Given the description of an element on the screen output the (x, y) to click on. 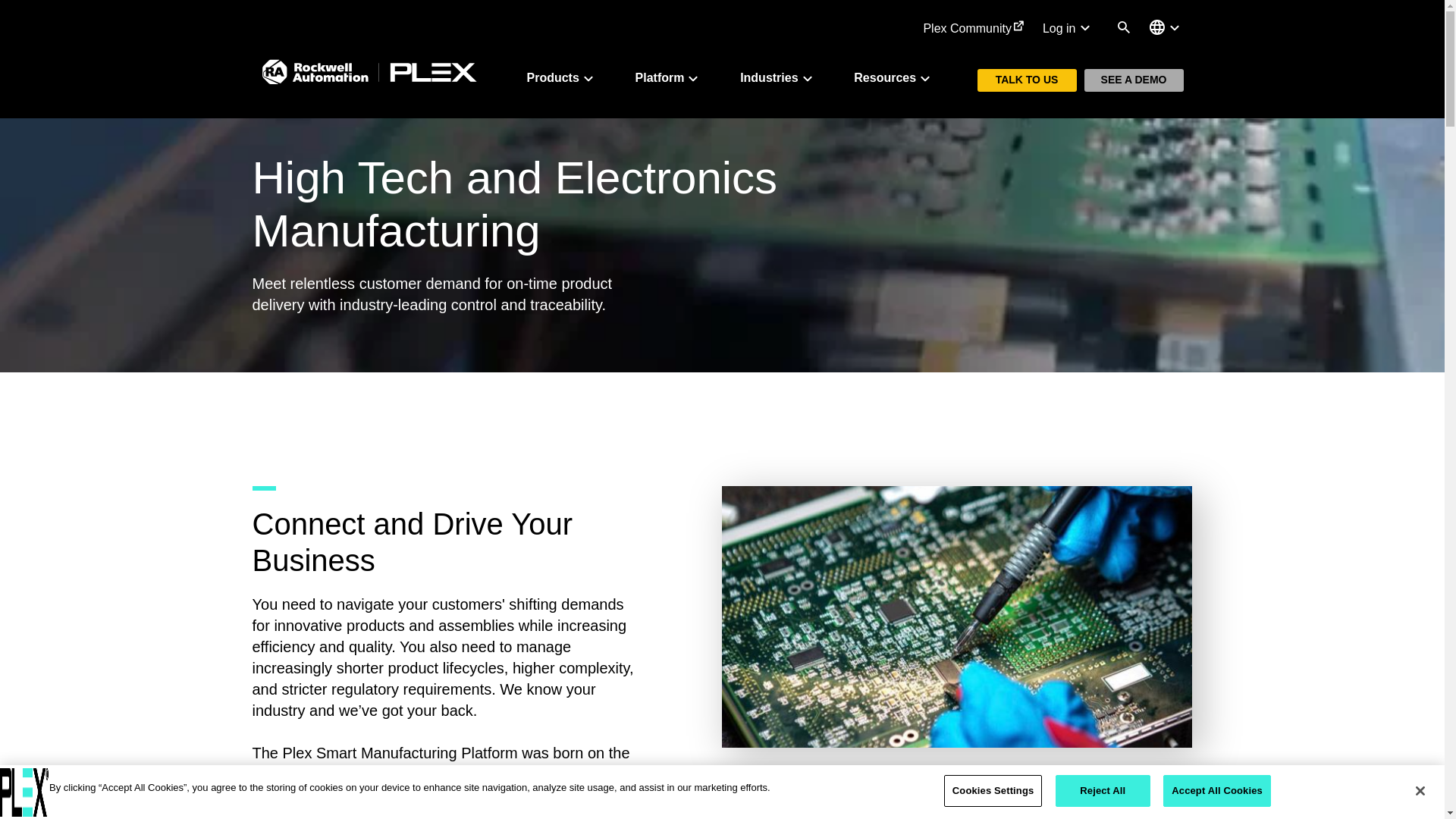
Plex Community (974, 28)
Opens in a new window (974, 28)
Log in (1068, 28)
Products (560, 77)
Resources (893, 77)
Plex (24, 792)
Platform (668, 77)
Industries (777, 77)
